Given the description of an element on the screen output the (x, y) to click on. 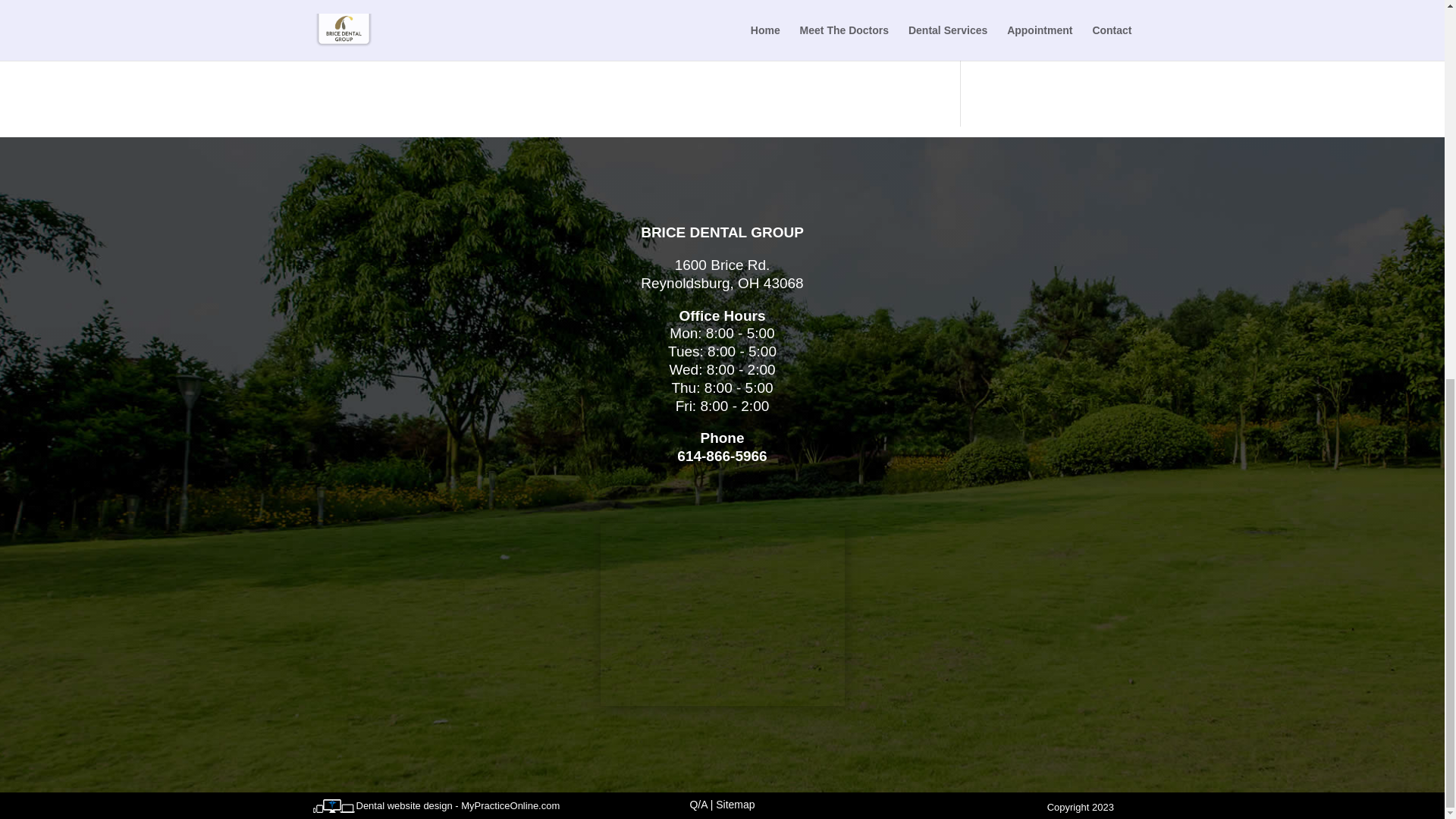
Dental website design - MyPracticeOnline.com (458, 805)
614-866-5966 (722, 455)
bricedentalgroupmap (721, 614)
Sitemap (735, 804)
